Given the description of an element on the screen output the (x, y) to click on. 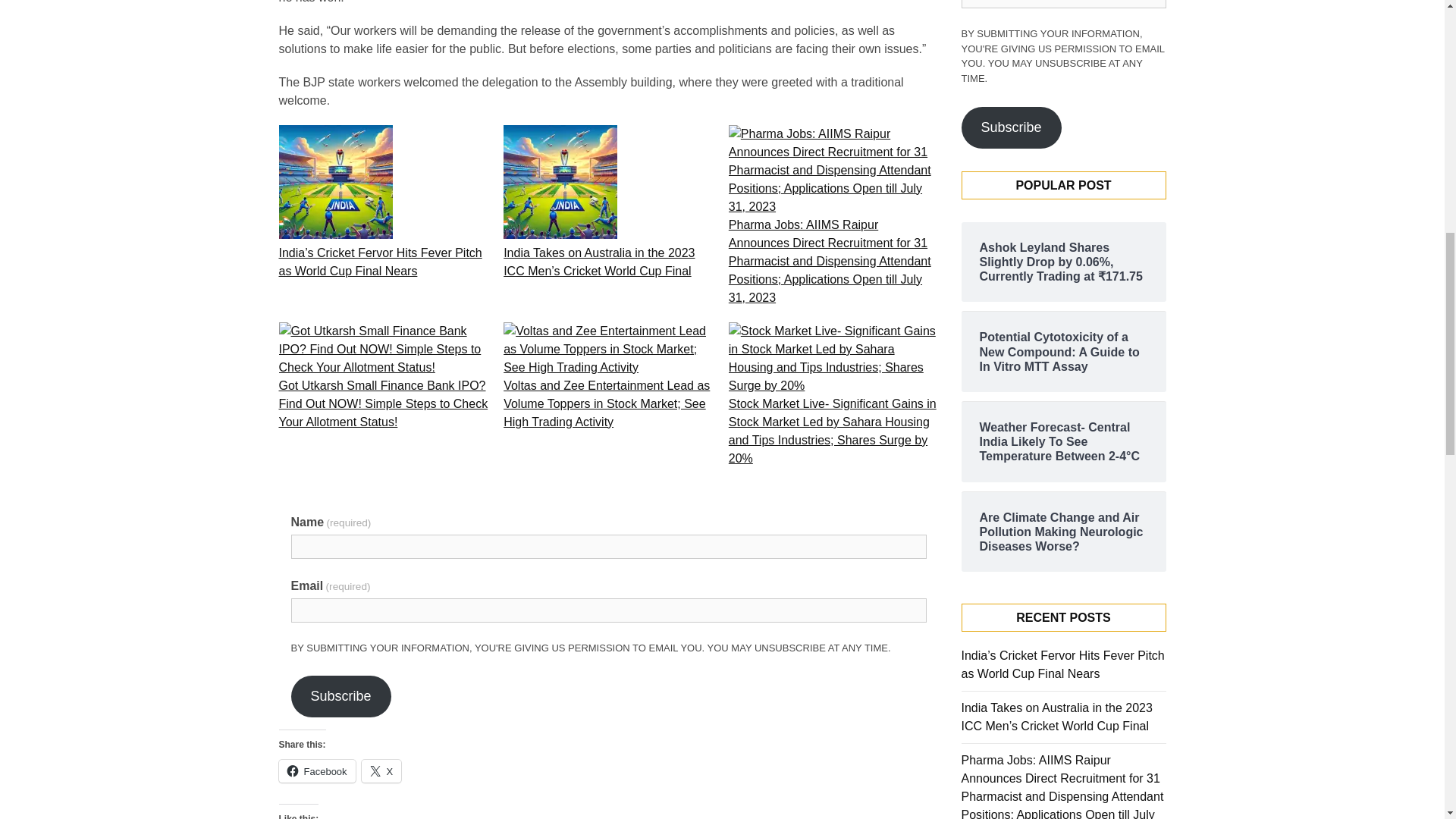
Click to share on X (381, 771)
Click to share on Facebook (317, 771)
